Given the description of an element on the screen output the (x, y) to click on. 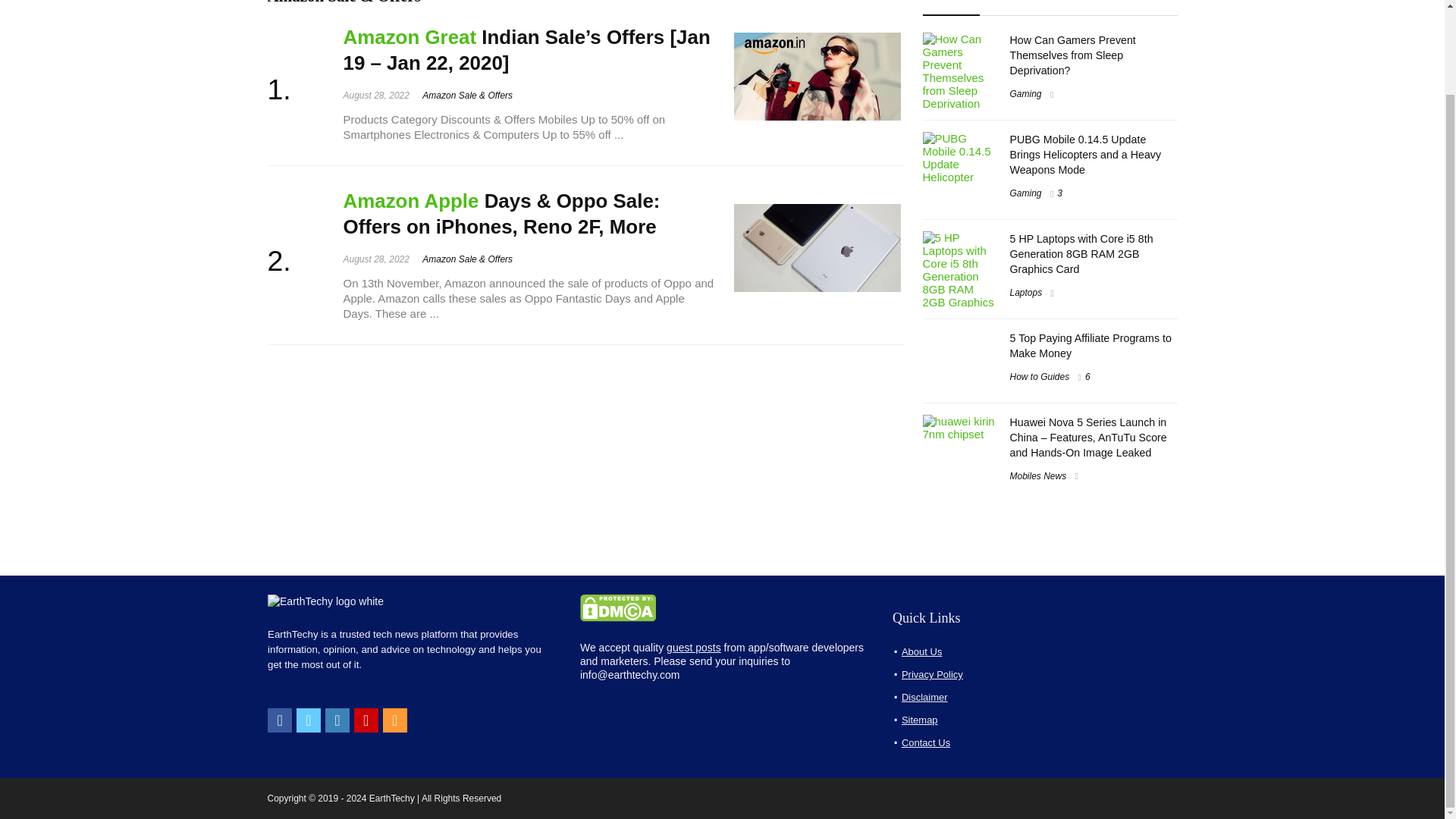
Gaming (1026, 193)
How to Guides (1040, 376)
How Can Gamers Prevent Themselves from Sleep Deprivation? (1072, 55)
5 Top Paying Affiliate Programs to Make Money (1091, 345)
Laptops (1026, 292)
Gaming (1026, 93)
DMCA.com Protection Status (617, 601)
